Given the description of an element on the screen output the (x, y) to click on. 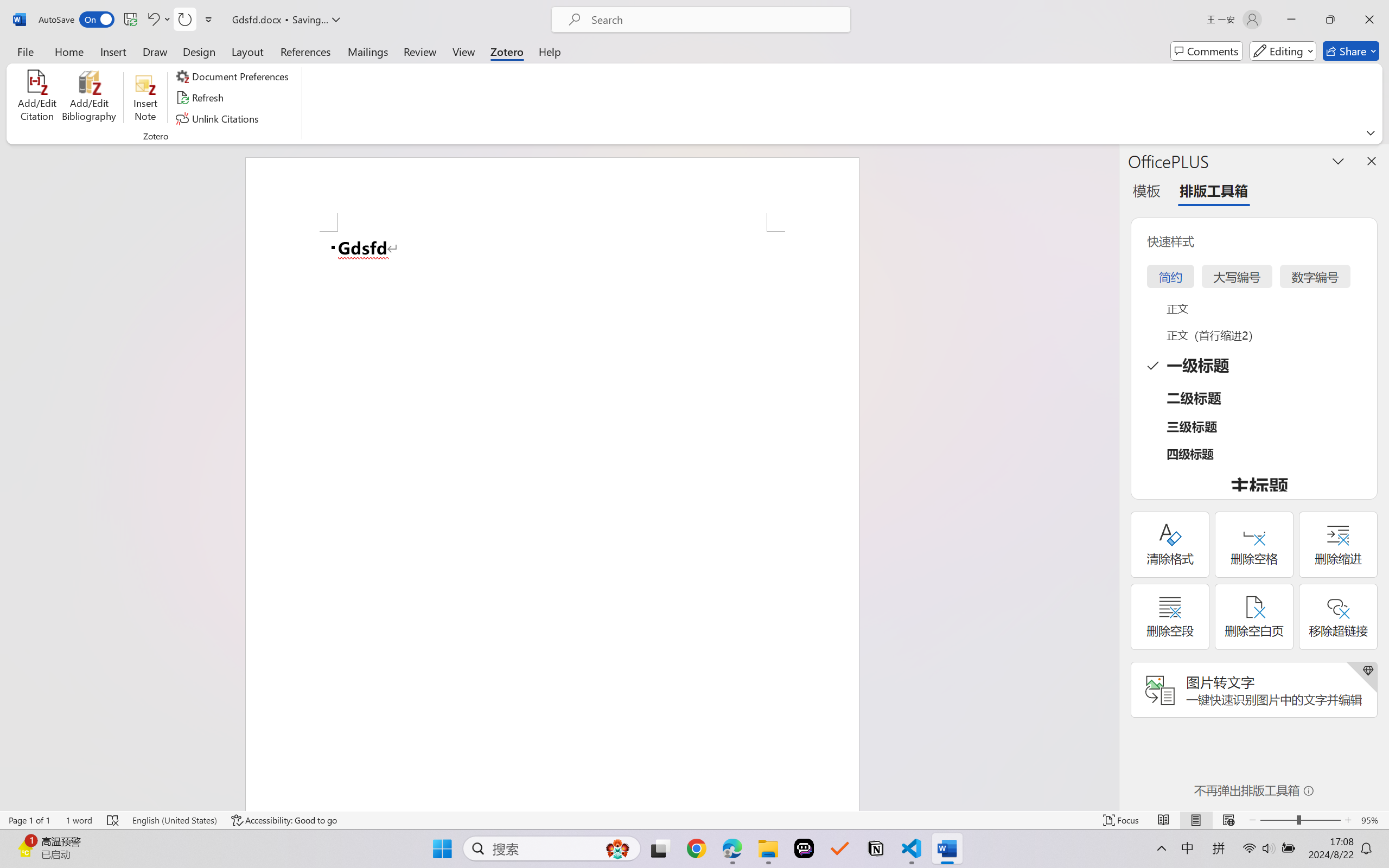
Zoom 95% (1372, 819)
Class: NetUIScrollBar (1111, 477)
